Given the description of an element on the screen output the (x, y) to click on. 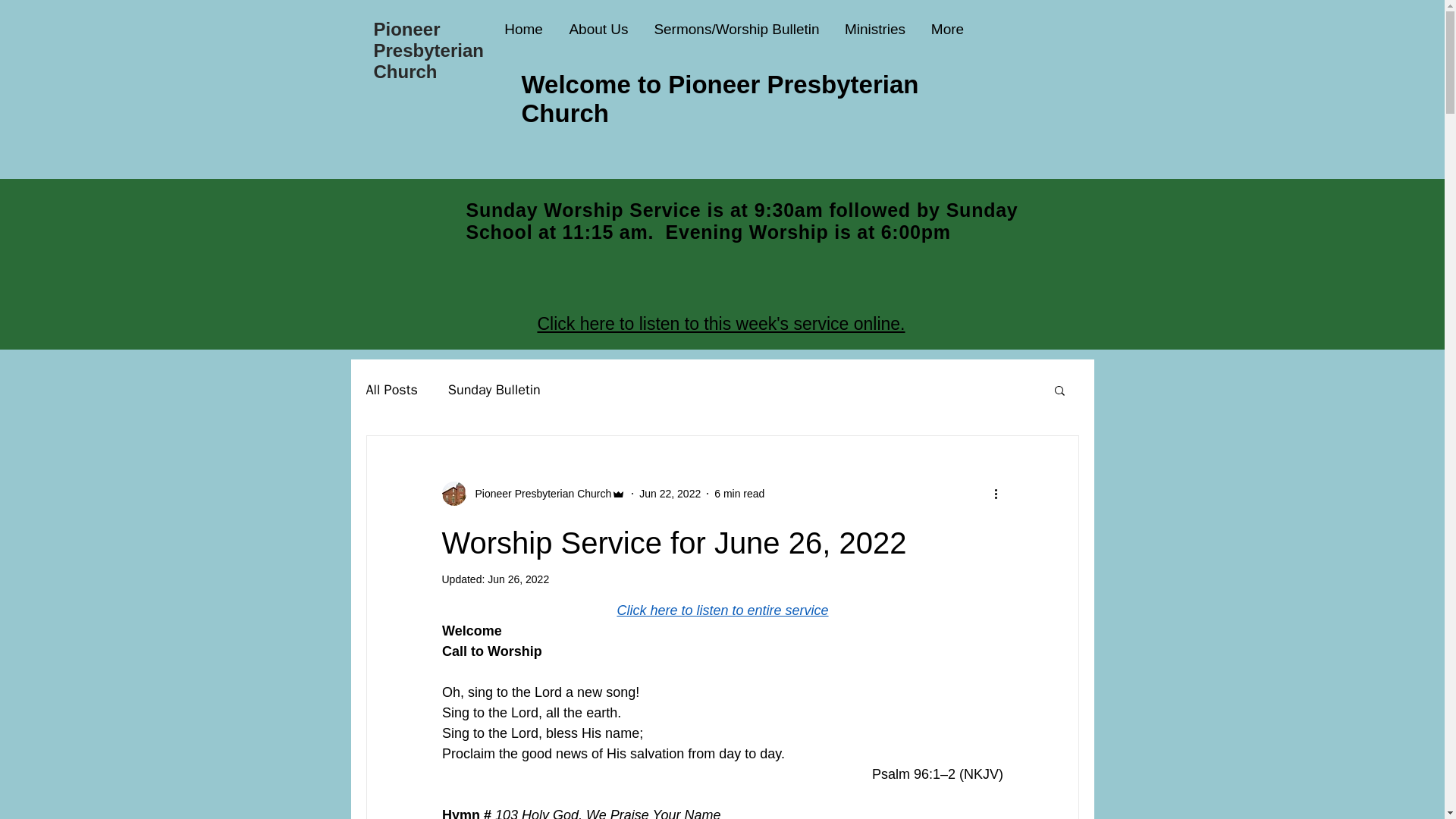
Jun 26, 2022 (517, 579)
Home (524, 28)
Pioneer Presbyterian Church (533, 493)
Click here to listen to entire service (721, 610)
Jun 22, 2022 (669, 492)
6 min read (739, 492)
Click here to listen to this week's service online. (720, 323)
Pioneer Presbyterian Church (538, 493)
Sunday Bulletin (494, 389)
All Posts (390, 389)
